Given the description of an element on the screen output the (x, y) to click on. 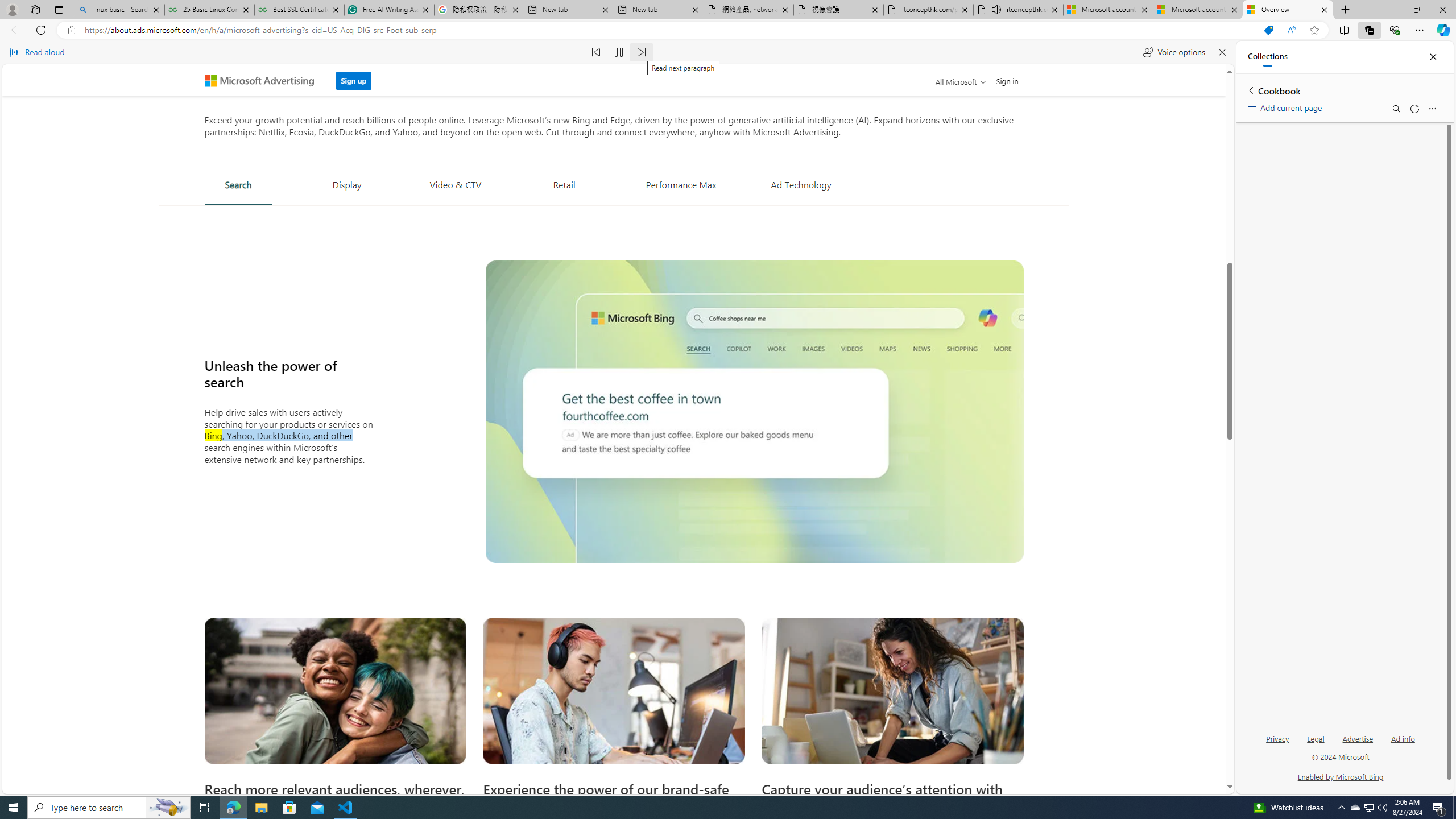
Best SSL Certificates Provider in India - GeeksforGeeks (298, 9)
